Given the description of an element on the screen output the (x, y) to click on. 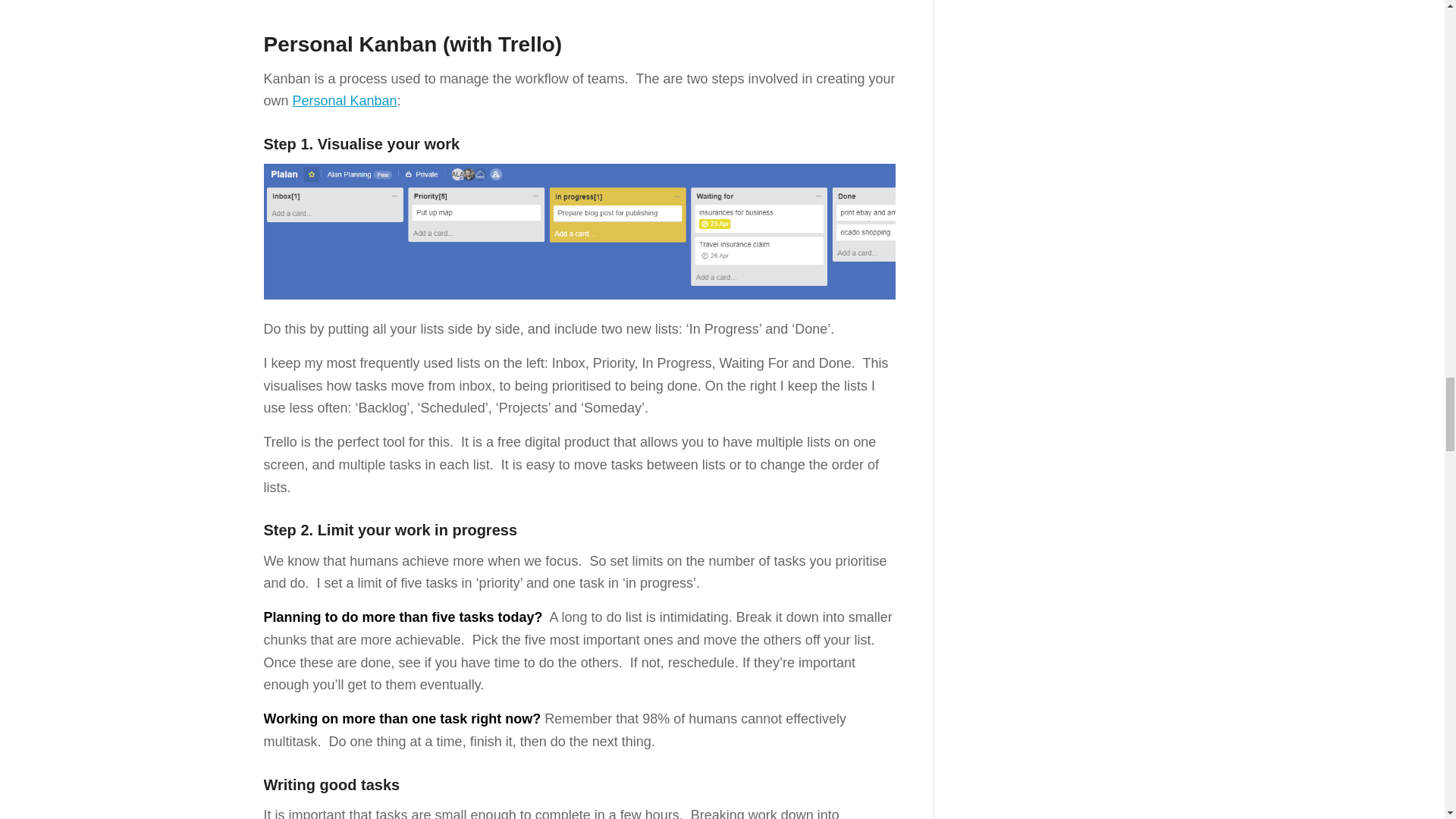
Personal Kanban (344, 100)
